Given the description of an element on the screen output the (x, y) to click on. 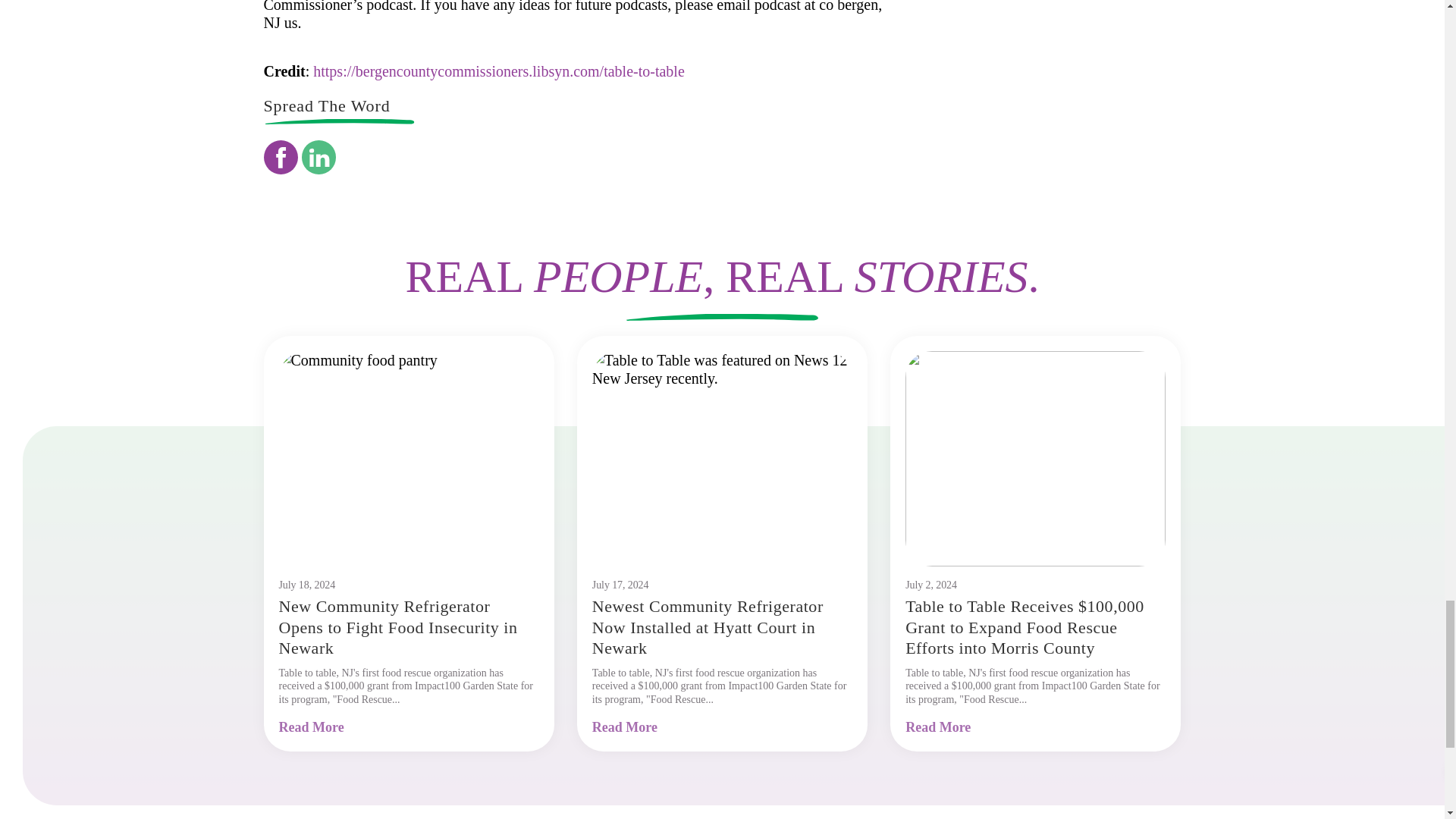
Facebook (280, 157)
